Given the description of an element on the screen output the (x, y) to click on. 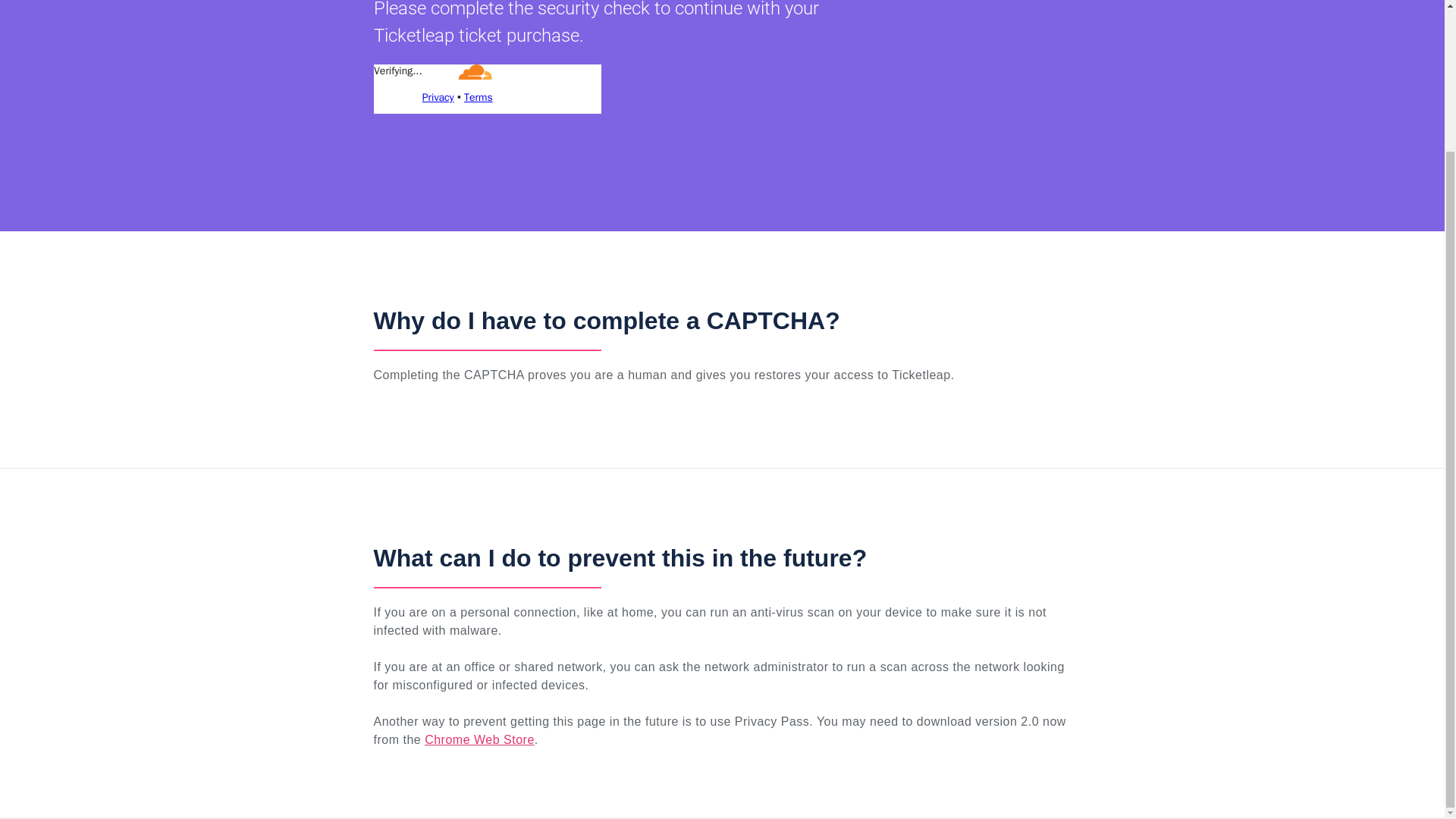
Chrome Web Store (479, 739)
